Given the description of an element on the screen output the (x, y) to click on. 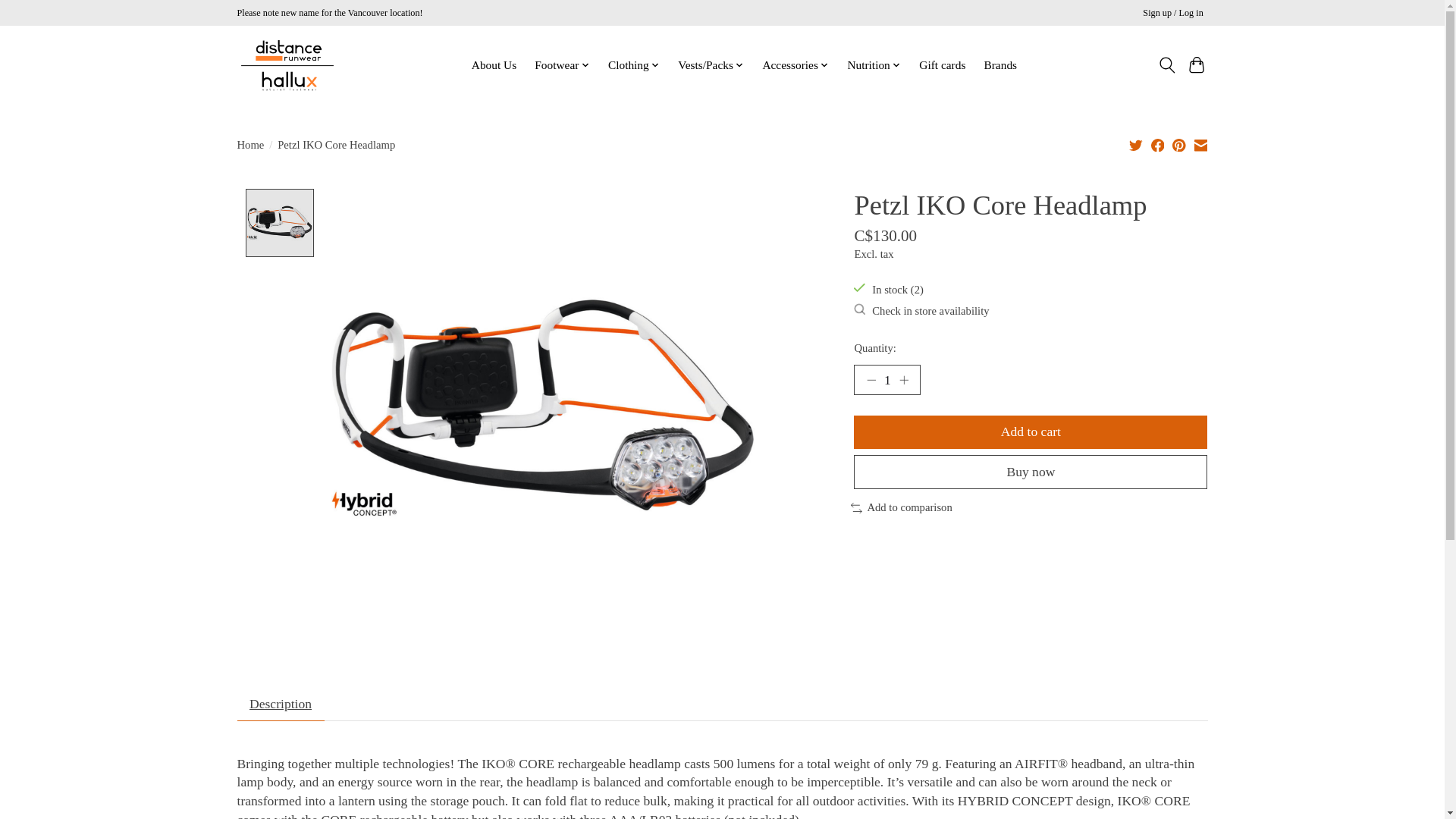
Share by Email (1200, 144)
Footwear (562, 65)
Clothing (633, 65)
Share on Pinterest (1178, 144)
1 (886, 379)
About Us (493, 65)
Share on Twitter (1135, 144)
Share on Facebook (1157, 144)
My account (1173, 13)
